Given the description of an element on the screen output the (x, y) to click on. 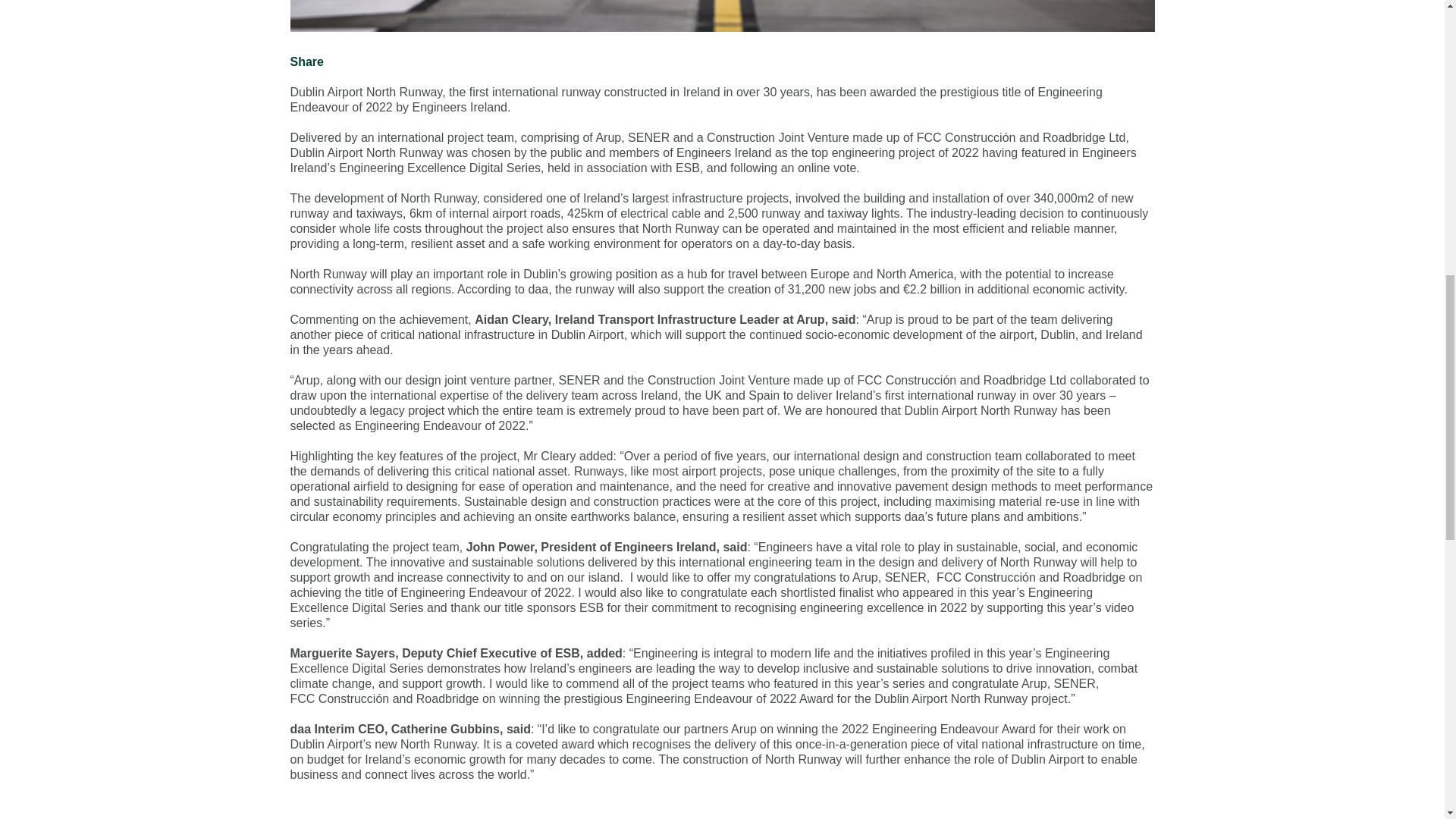
NR (721, 15)
YouTube video player (721, 808)
